Given the description of an element on the screen output the (x, y) to click on. 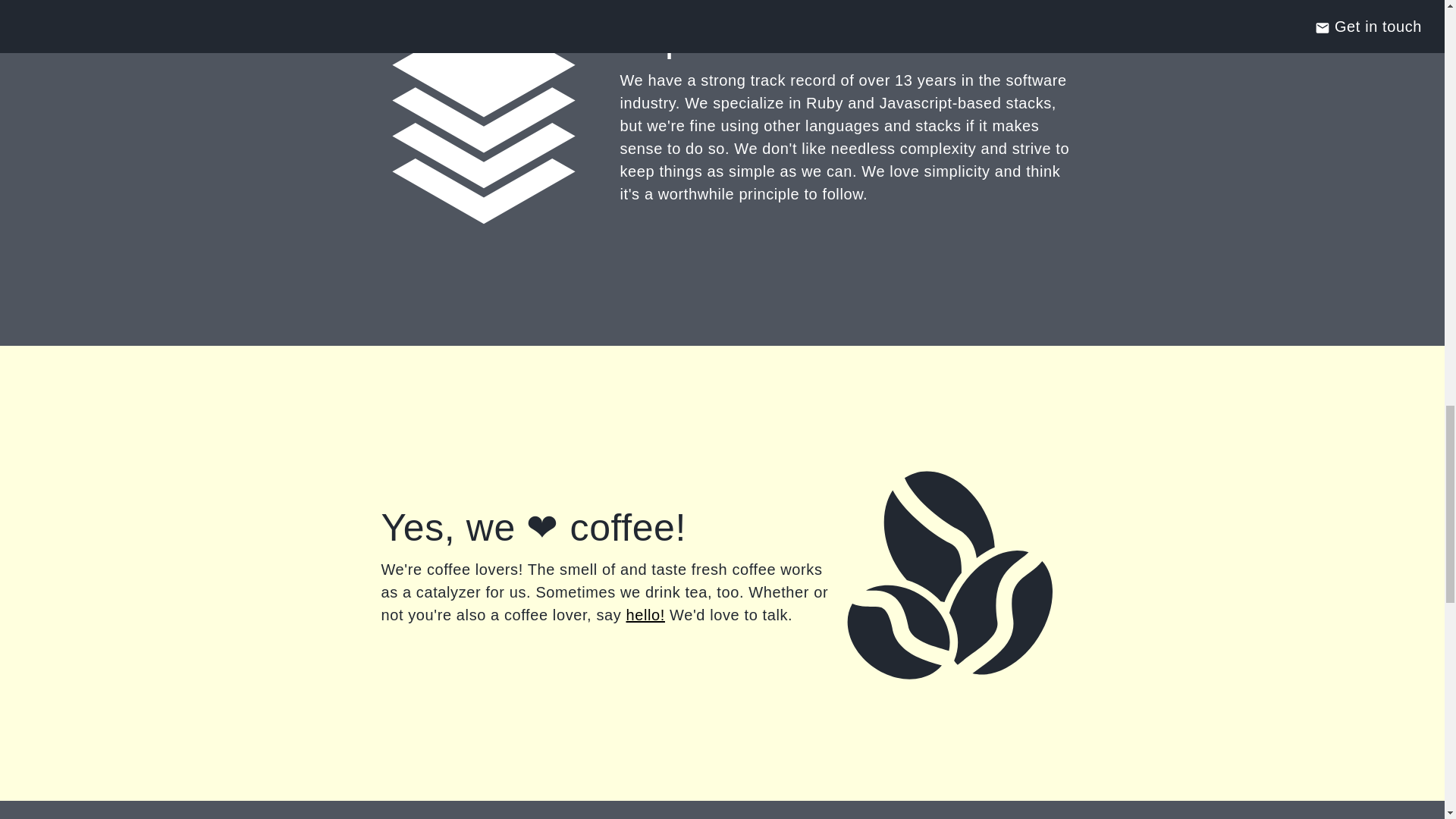
hello! (645, 614)
